Given the description of an element on the screen output the (x, y) to click on. 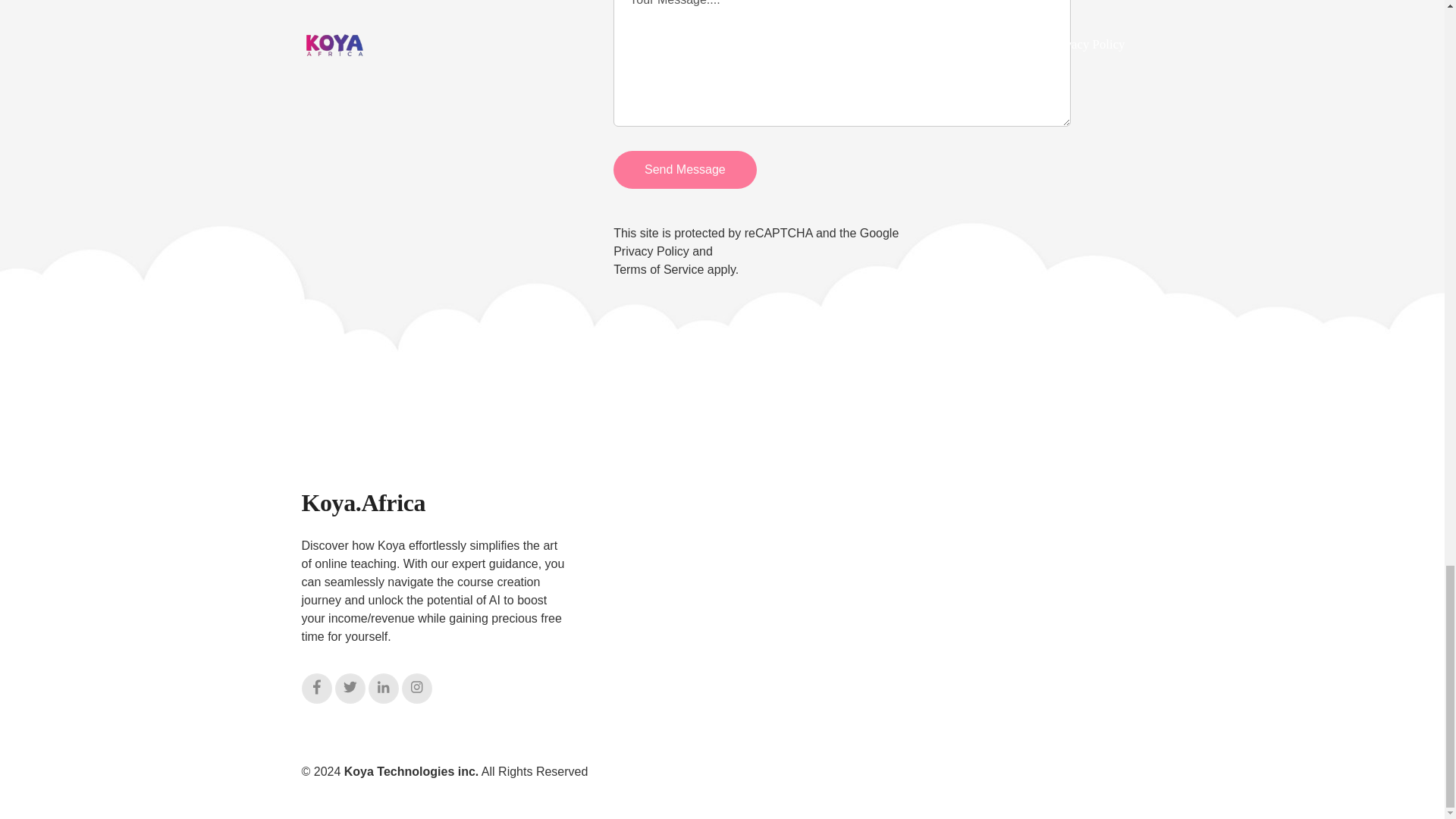
Facebook (316, 688)
Privacy Policy (650, 250)
Instagram (416, 688)
LinkedIn (383, 688)
Send Message (684, 169)
Terms of Service (657, 269)
Twitter (349, 688)
